Given the description of an element on the screen output the (x, y) to click on. 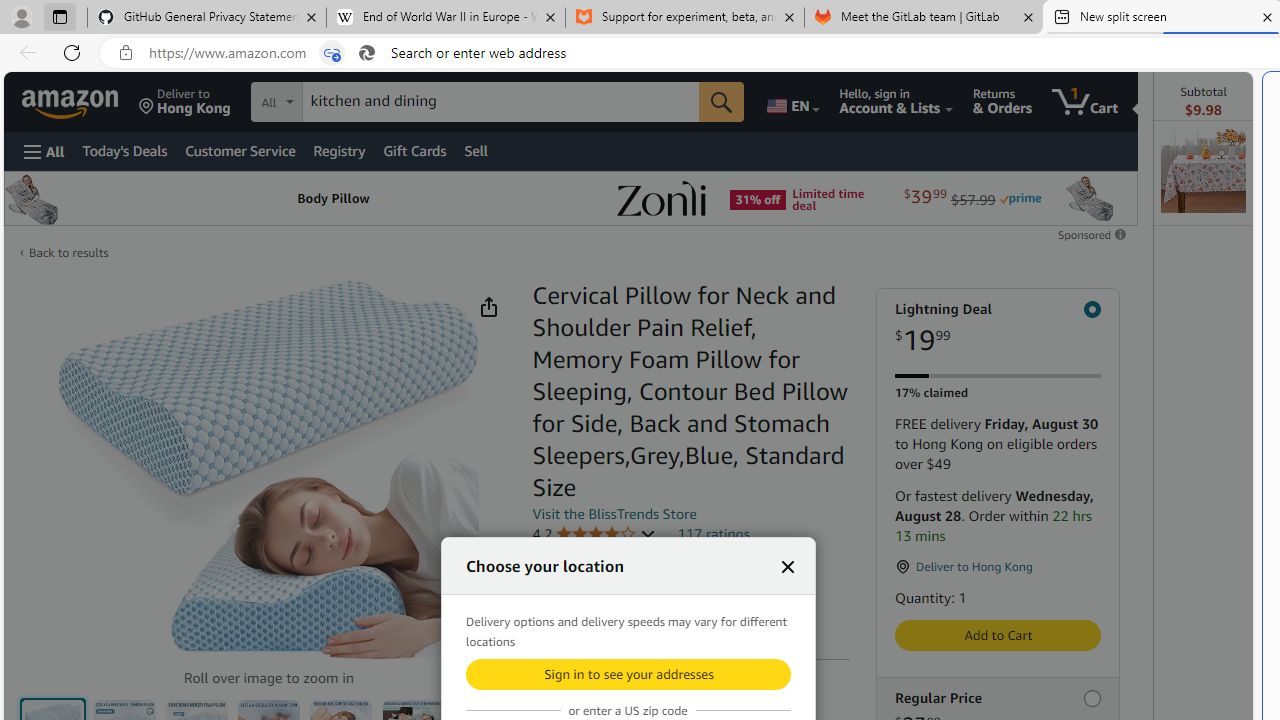
Meet the GitLab team | GitLab (924, 17)
Sign in to see your addresses (628, 674)
Search icon (366, 53)
Visit the BlissTrends Store (614, 513)
Sustainability features 1 sustainability feature  (626, 616)
Amazon (72, 101)
Back to results (68, 251)
Gift Cards (414, 150)
Today's Deals (124, 150)
GitHub General Privacy Statement - GitHub Docs (207, 17)
Sponsored ad (570, 198)
End of World War II in Europe - Wikipedia (445, 17)
